Given the description of an element on the screen output the (x, y) to click on. 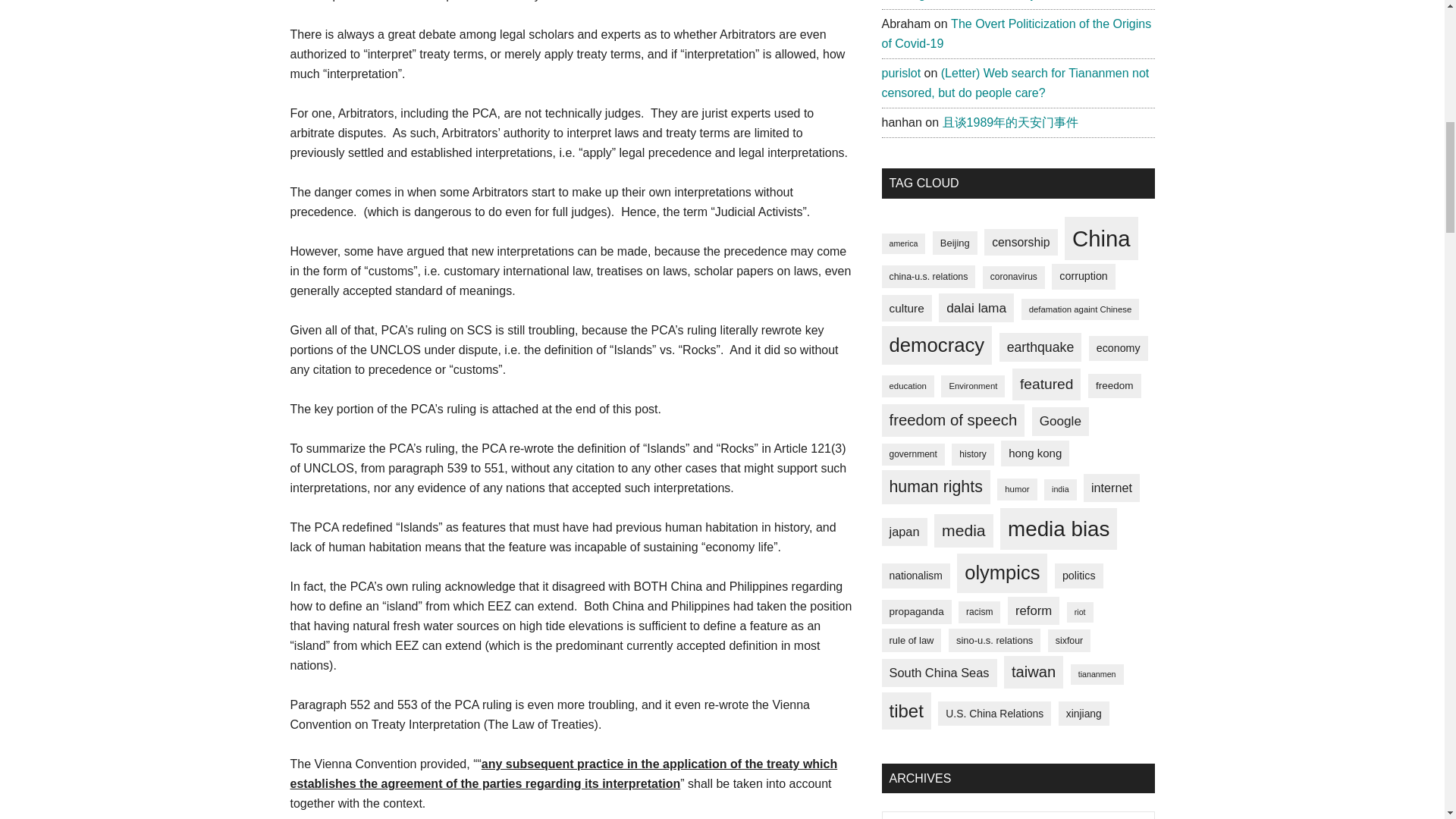
culture (905, 307)
The Overt Politicization of the Origins of Covid-19 (1015, 33)
censorship (1020, 242)
corruption (1083, 276)
earthquake (1039, 347)
china-u.s. relations (927, 276)
america (902, 243)
China (1101, 239)
purislot (900, 72)
coronavirus (1013, 277)
